Given the description of an element on the screen output the (x, y) to click on. 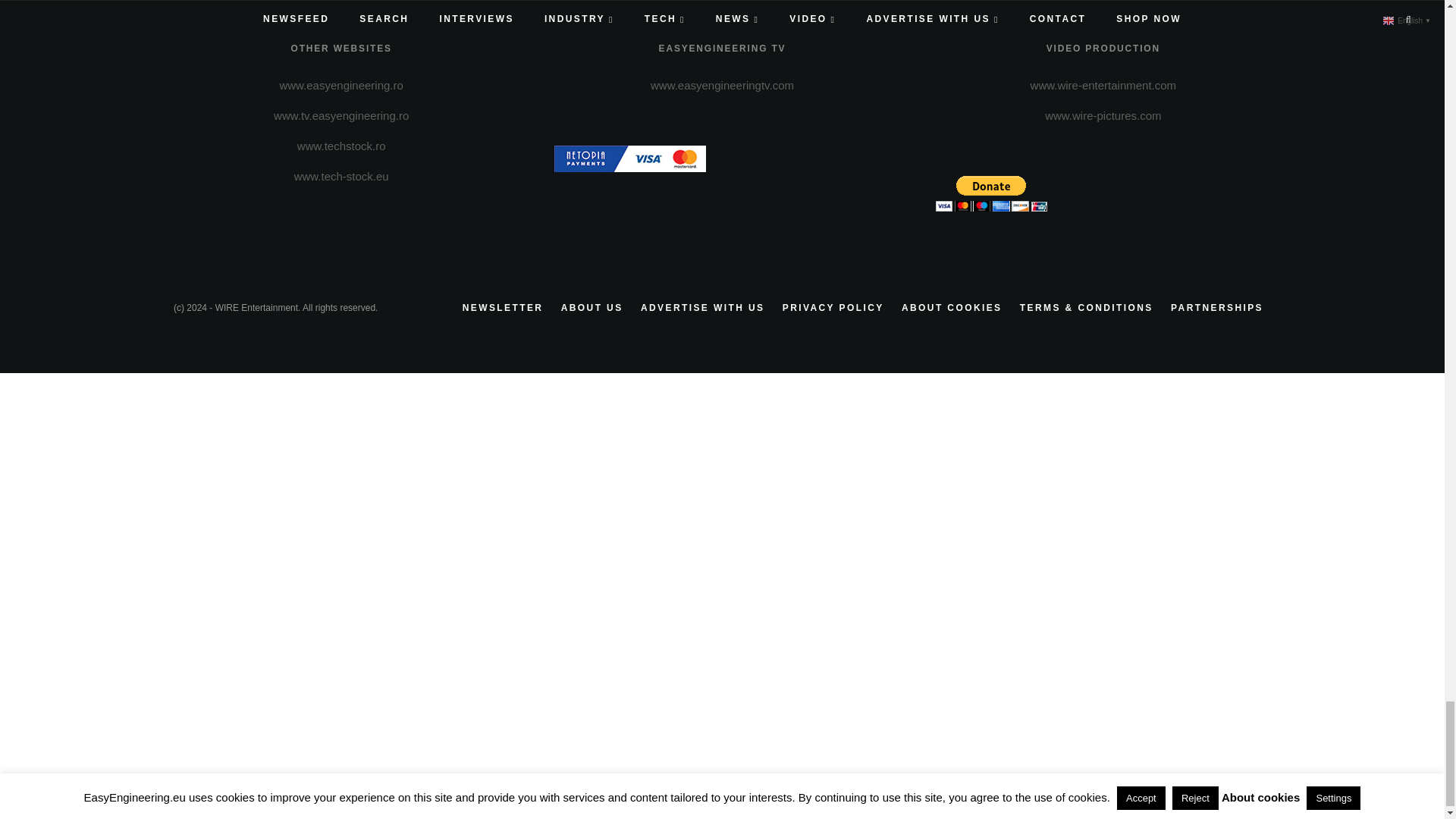
PayPal - The safer, easier way to pay online! (991, 193)
